Given the description of an element on the screen output the (x, y) to click on. 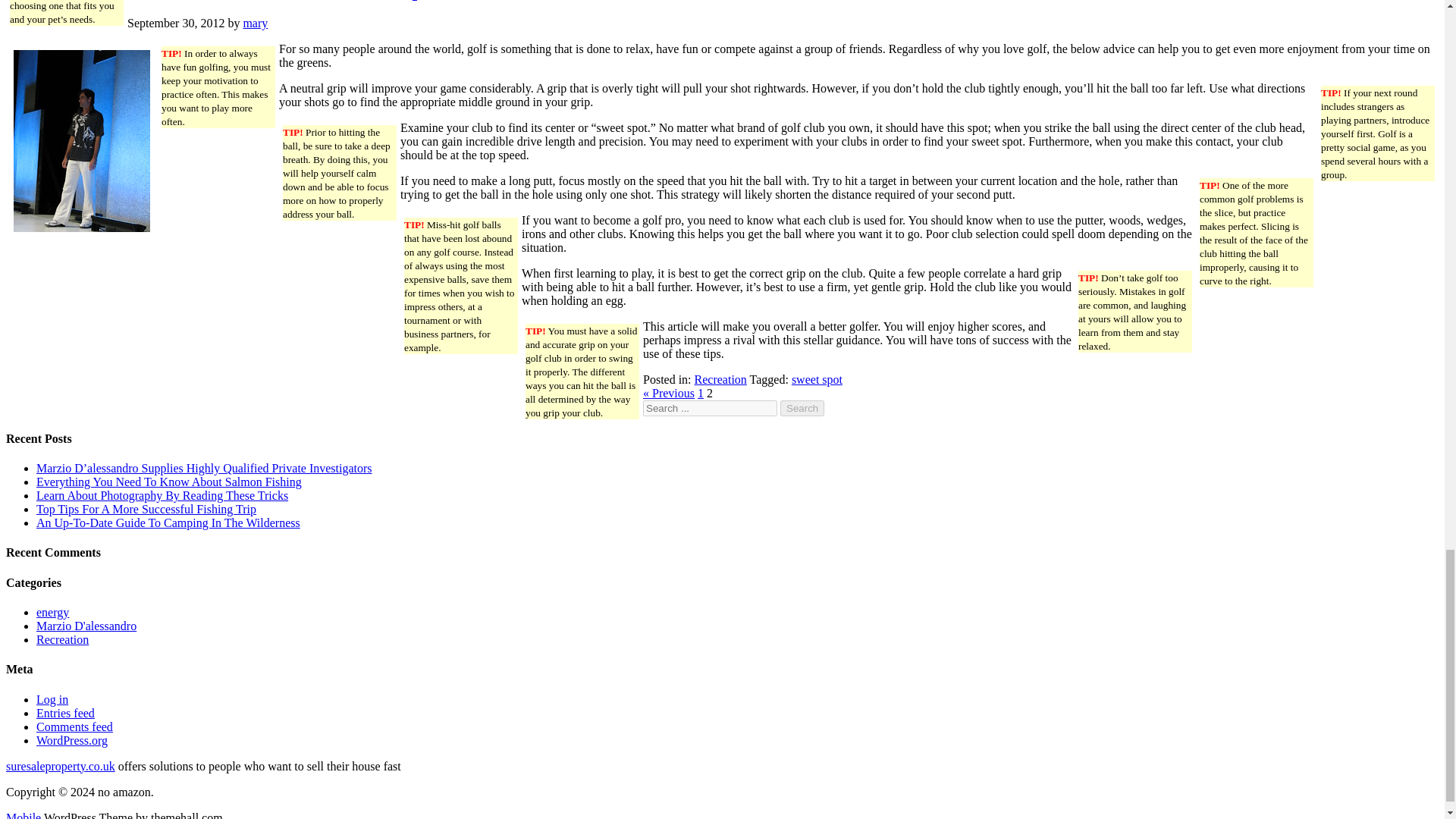
Search (802, 408)
Entries feed (65, 712)
sweet spot (817, 379)
Recreation (62, 639)
Log in (52, 698)
Posts by mary (255, 22)
An Up-To-Date Guide To Camping In The Wilderness (167, 522)
Everything You Need To Know About Salmon Fishing (168, 481)
Marzio D'alessandro (86, 625)
Search (802, 408)
Top Tips For A More Successful Fishing Trip (146, 508)
Search (802, 408)
Learn About Photography By Reading These Tricks (162, 495)
Sunday, September 30, 2012, 5:12 pm (176, 22)
